Given the description of an element on the screen output the (x, y) to click on. 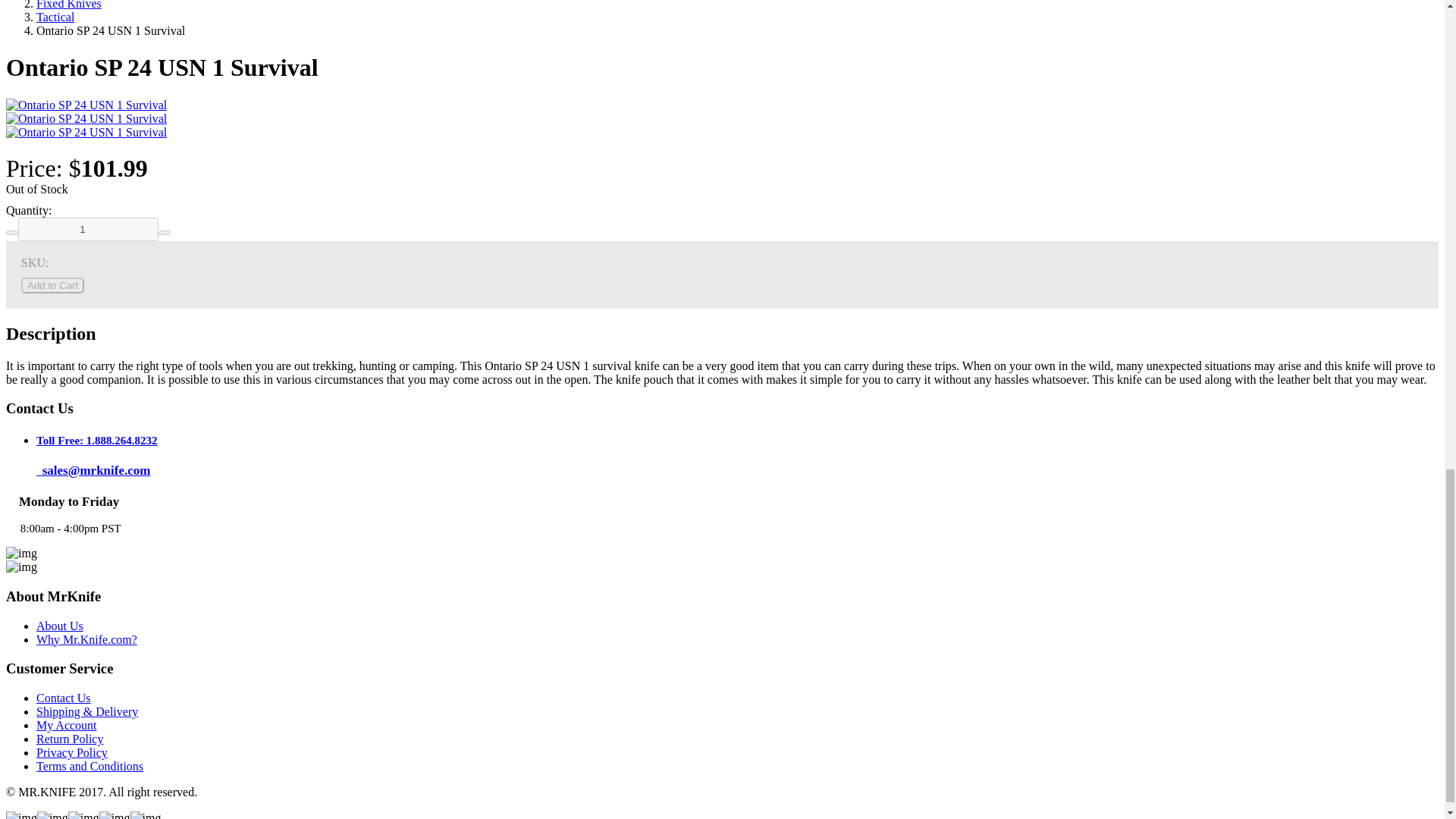
Fixed Knives (68, 4)
Ontario SP 24 USN 1 Survival (86, 132)
Ontario SP 24 USN 1 Survival (86, 118)
1 (87, 228)
